Given the description of an element on the screen output the (x, y) to click on. 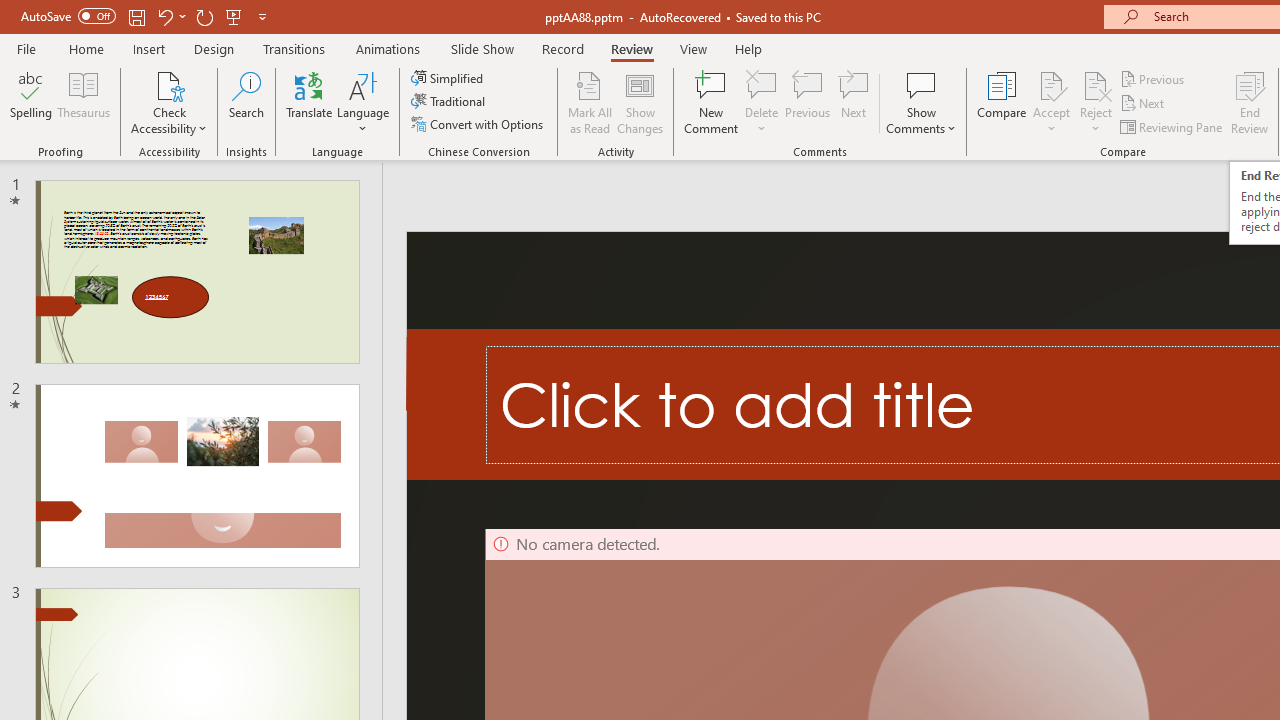
Accept Change (1051, 84)
Language (363, 102)
Next (1144, 103)
Accept (1051, 102)
